Given the description of an element on the screen output the (x, y) to click on. 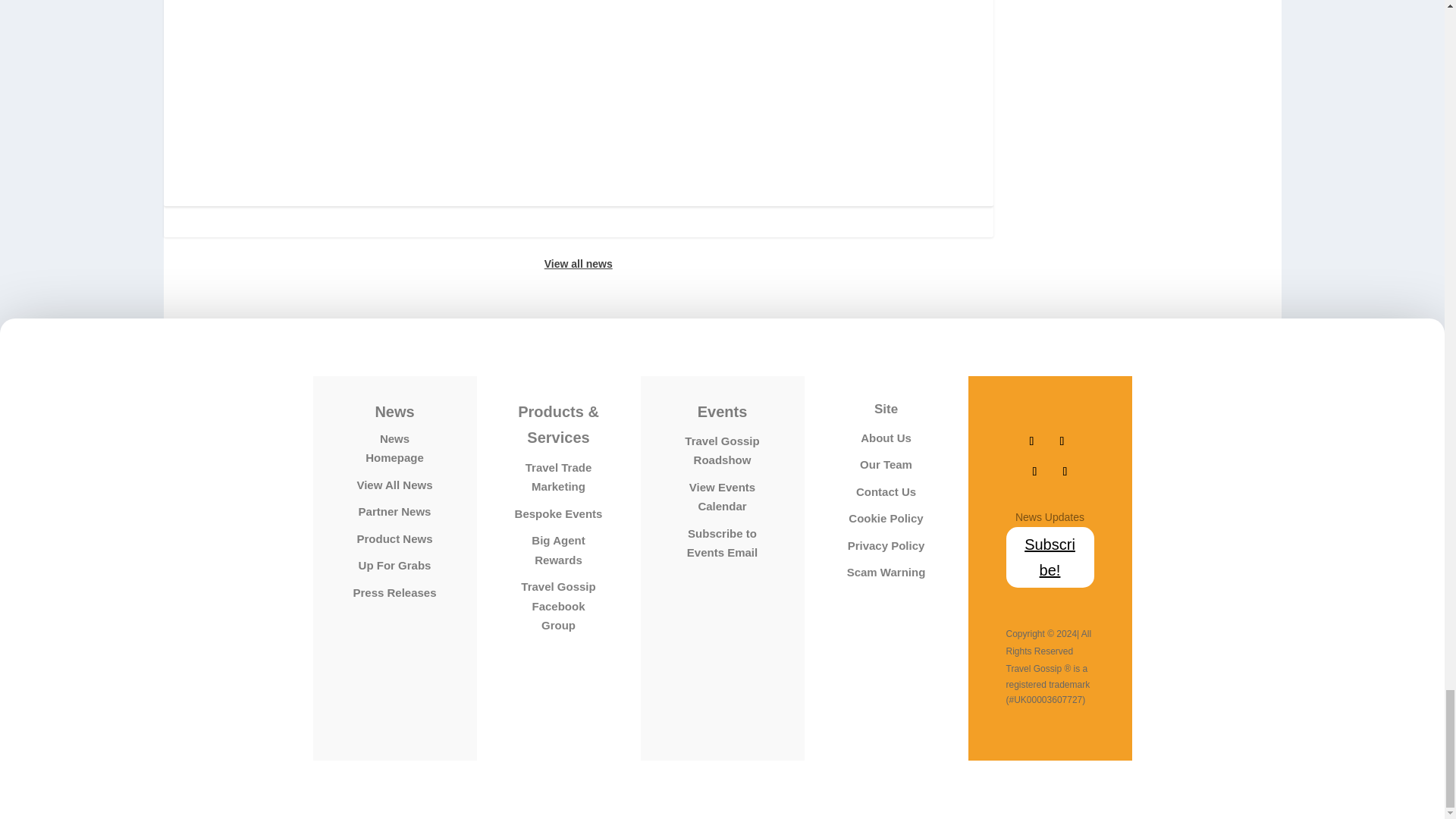
Follow on Instagram (1034, 471)
Follow on LinkedIn (1064, 471)
Follow on X (1061, 441)
Follow on Facebook (1031, 441)
